Given the description of an element on the screen output the (x, y) to click on. 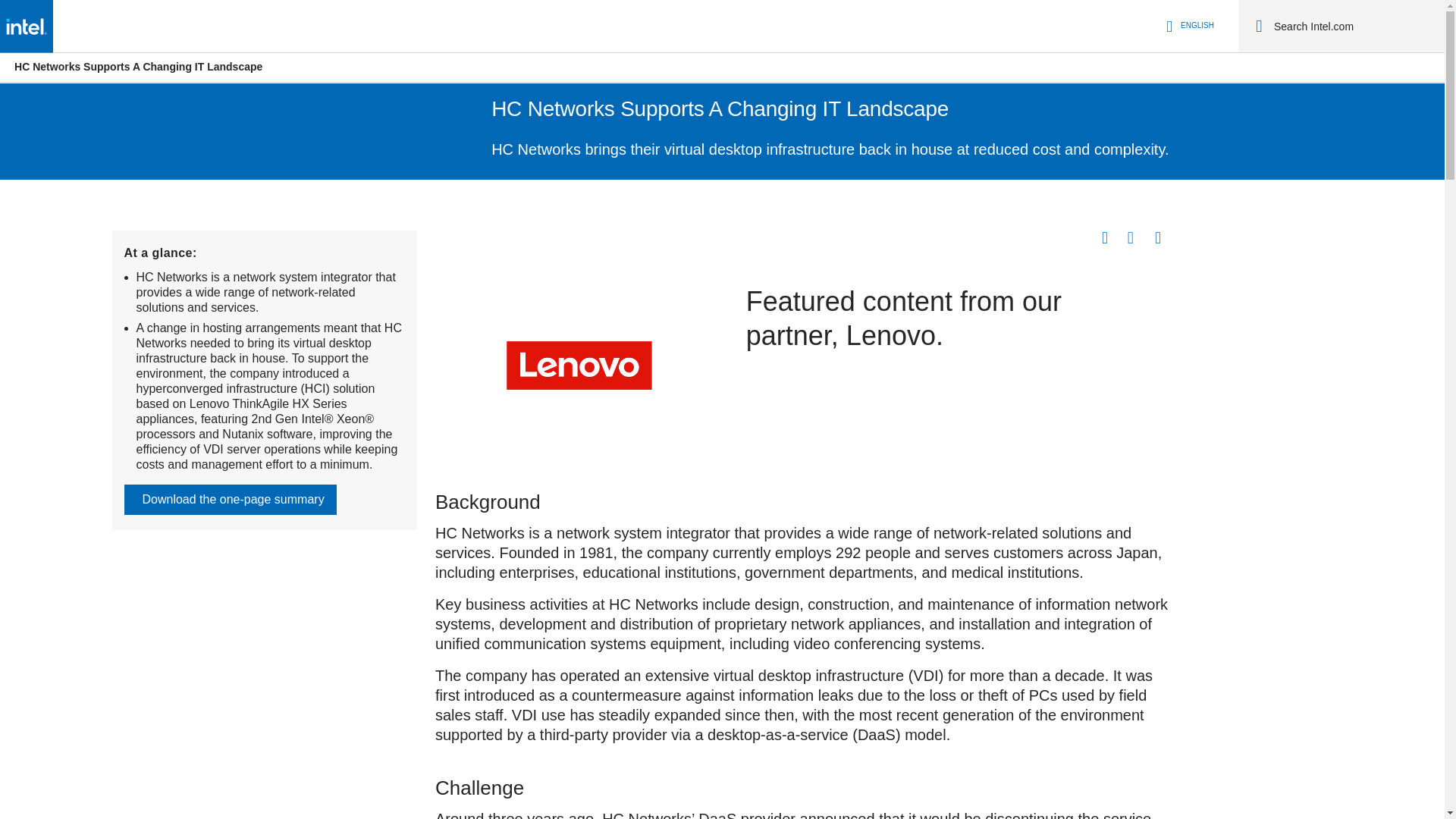
Search (1259, 26)
ENGLISH (1187, 26)
Language Selector (1187, 26)
